Given the description of an element on the screen output the (x, y) to click on. 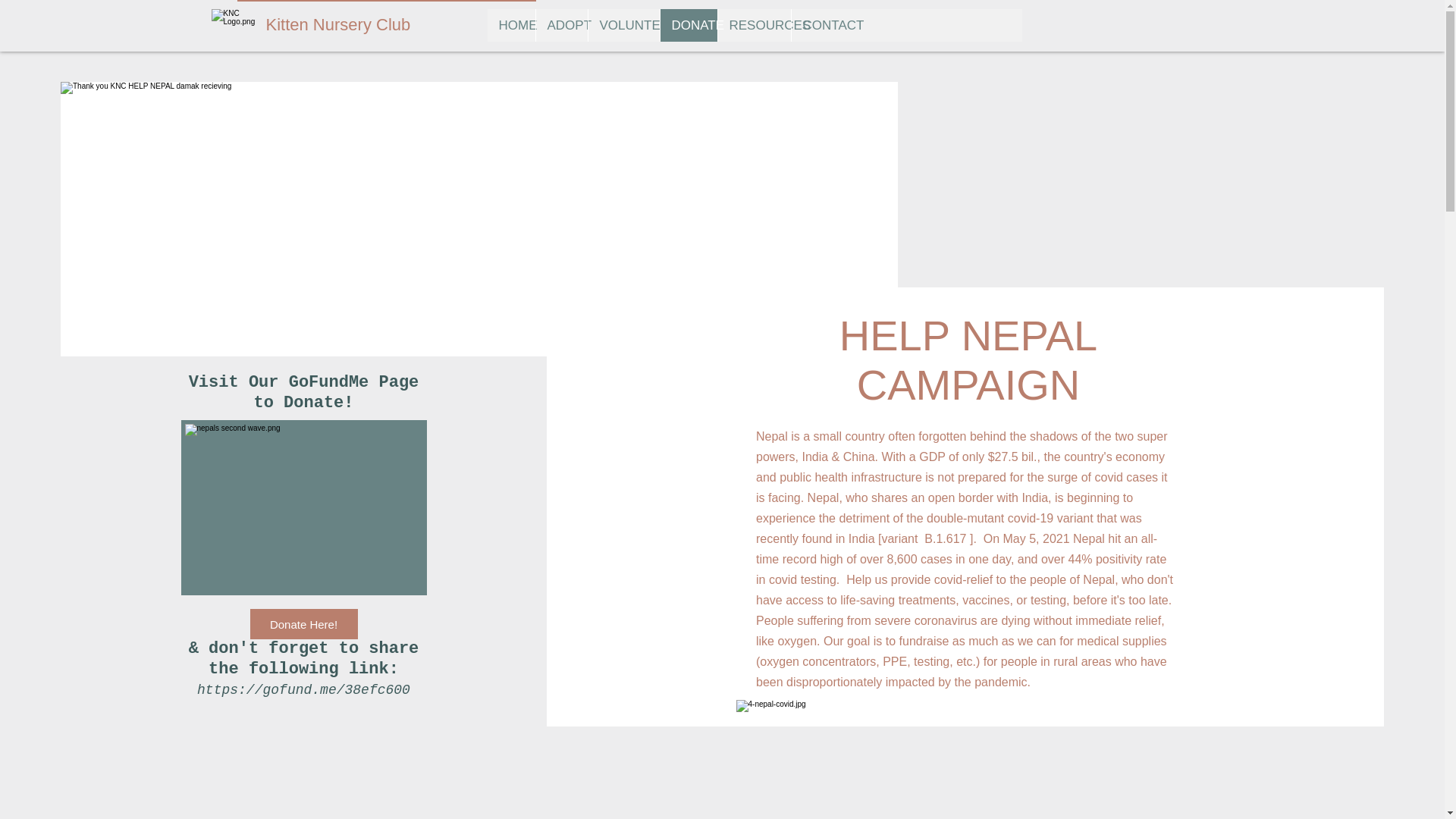
ADOPT (561, 25)
HOME (510, 25)
CONTACT (821, 25)
Donate Here! (304, 624)
RESOURCES (753, 25)
VOLUNTEER (622, 25)
Kitten Nursery Club (359, 25)
DONATE (688, 25)
